Given the description of an element on the screen output the (x, y) to click on. 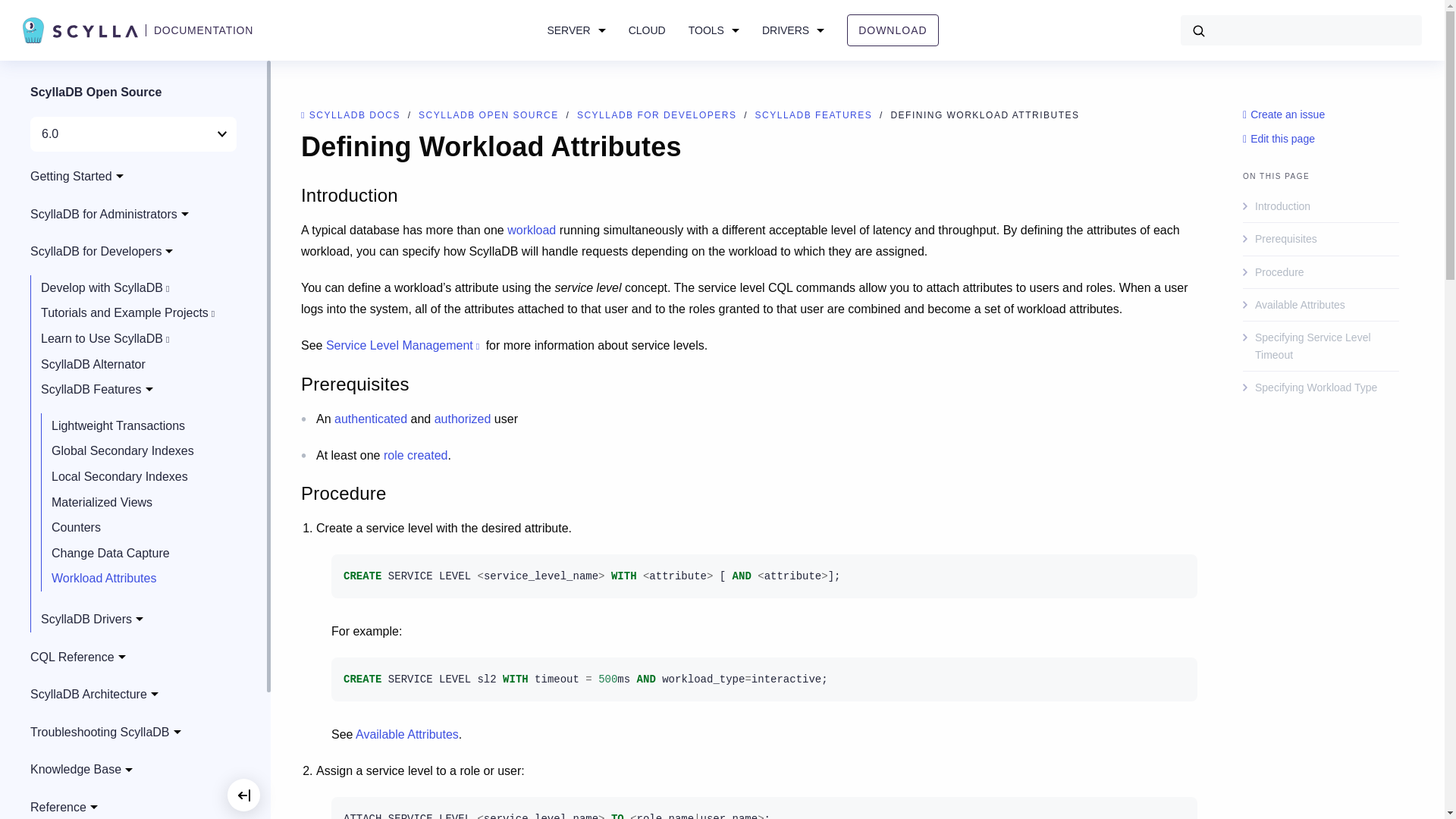
TOOLS (713, 30)
SCYLLADB FEATURES (815, 114)
authenticated (370, 418)
DOCUMENTATION (203, 30)
SERVER (576, 30)
authorized (462, 418)
workload (531, 229)
Available Attributes (406, 734)
DRIVERS (792, 30)
DOWNLOAD (892, 29)
SCYLLADB OPEN SOURCE (490, 114)
Service Level Management (403, 345)
CLOUD (646, 30)
SCYLLADB FOR DEVELOPERS (657, 114)
role created (416, 454)
